Given the description of an element on the screen output the (x, y) to click on. 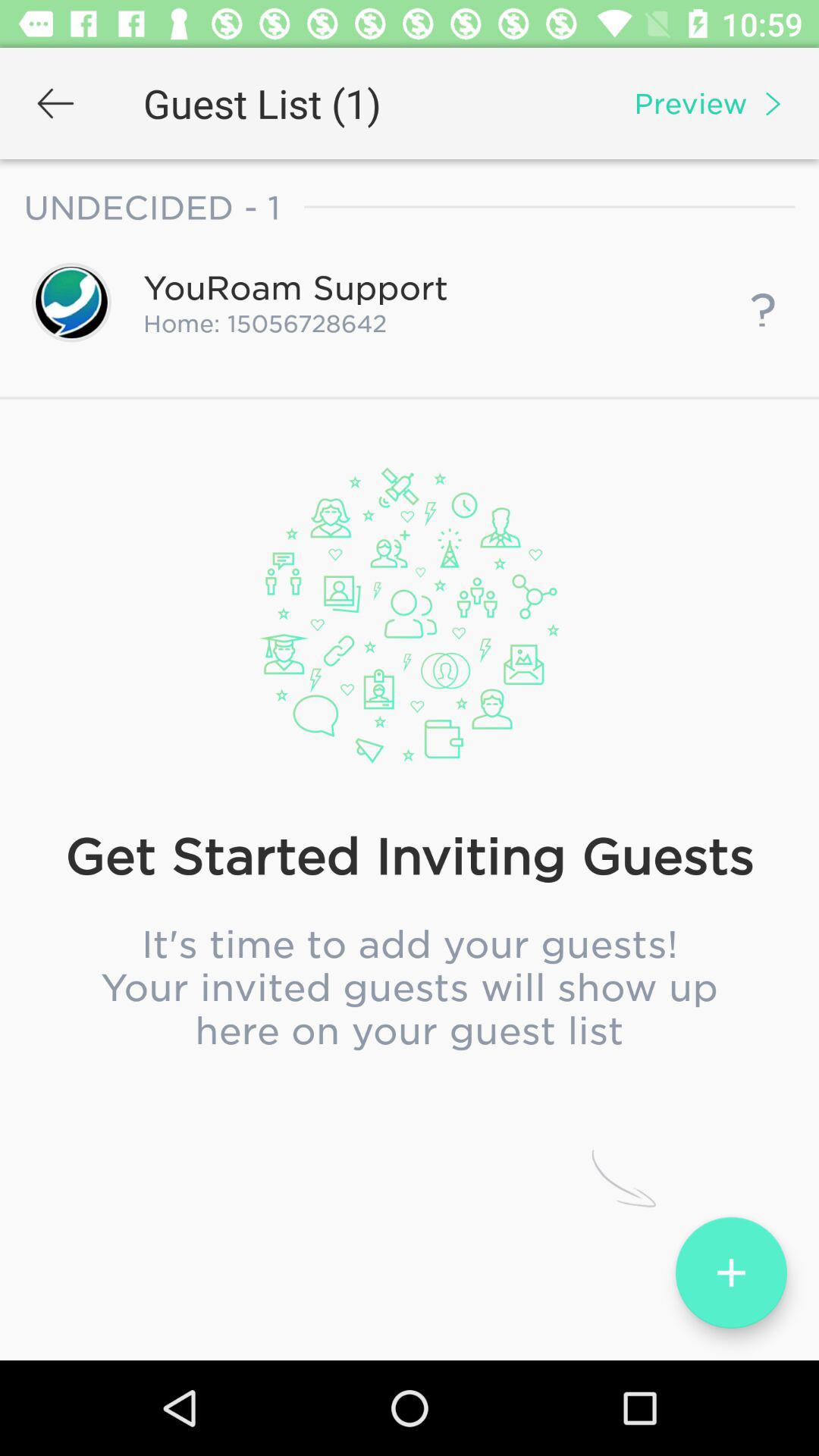
turn off hawaii - hst item (409, 777)
